Given the description of an element on the screen output the (x, y) to click on. 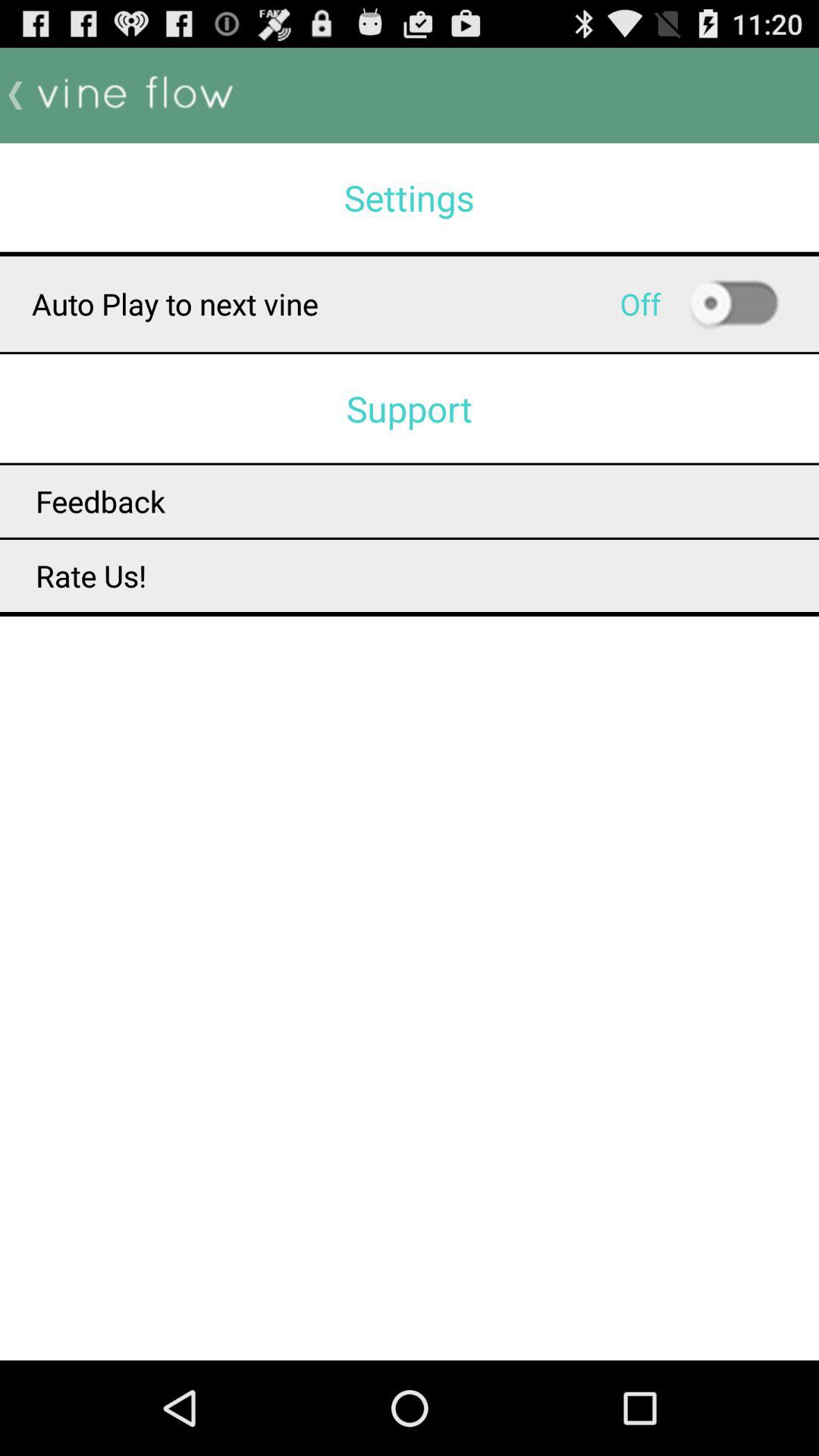
choose the icon next to off app (733, 304)
